Given the description of an element on the screen output the (x, y) to click on. 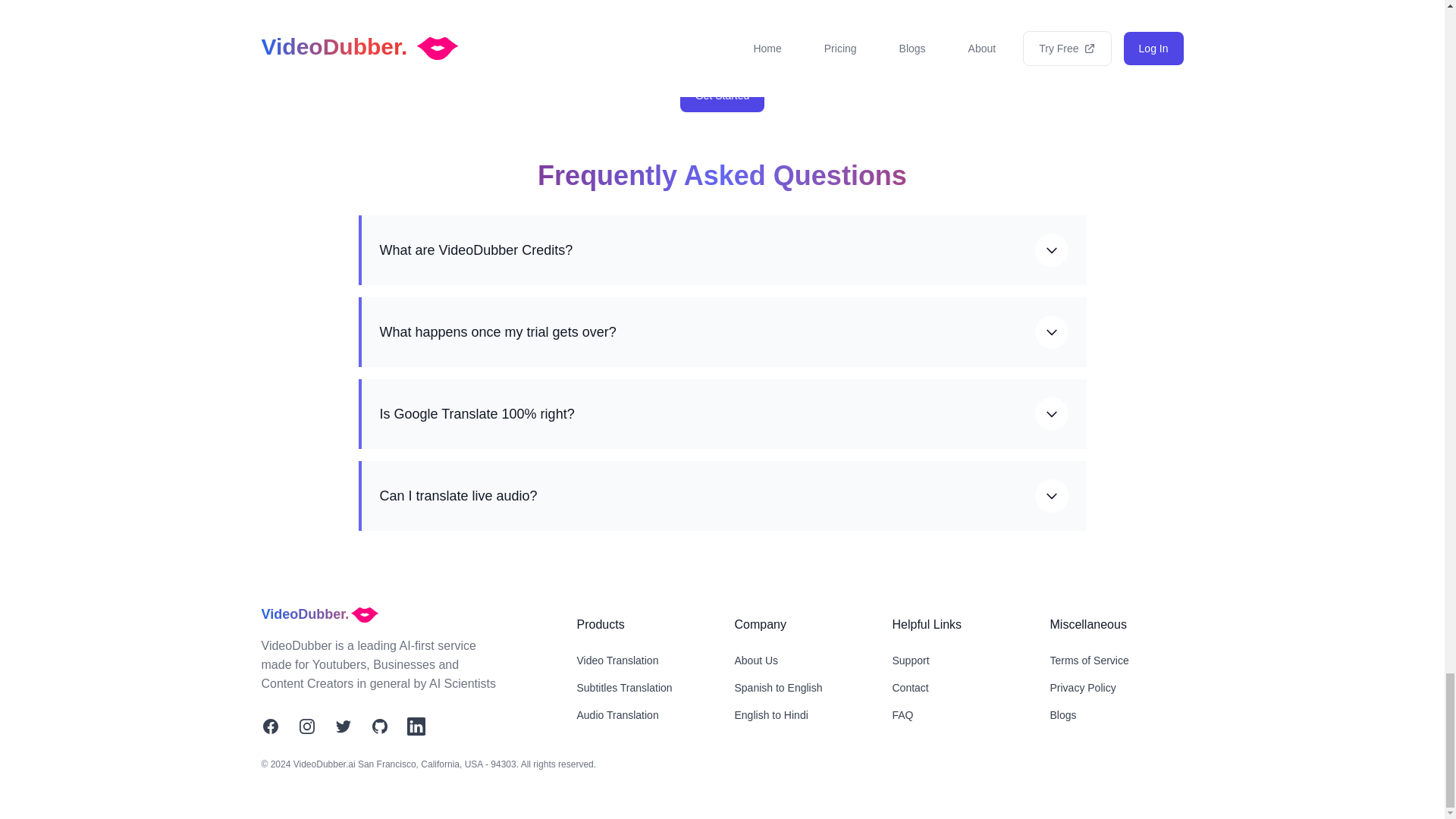
English to Hindi (770, 715)
Twitter (342, 726)
Linkedin (415, 726)
Facebook (269, 726)
Get Started (722, 95)
Spanish to English (777, 687)
Subtitles Translation (623, 687)
Contact (909, 687)
FAQ (901, 715)
About Us (755, 660)
Instagram (306, 726)
Video Translation (617, 660)
GitHub (378, 726)
Audio Translation (617, 715)
Support (909, 660)
